Given the description of an element on the screen output the (x, y) to click on. 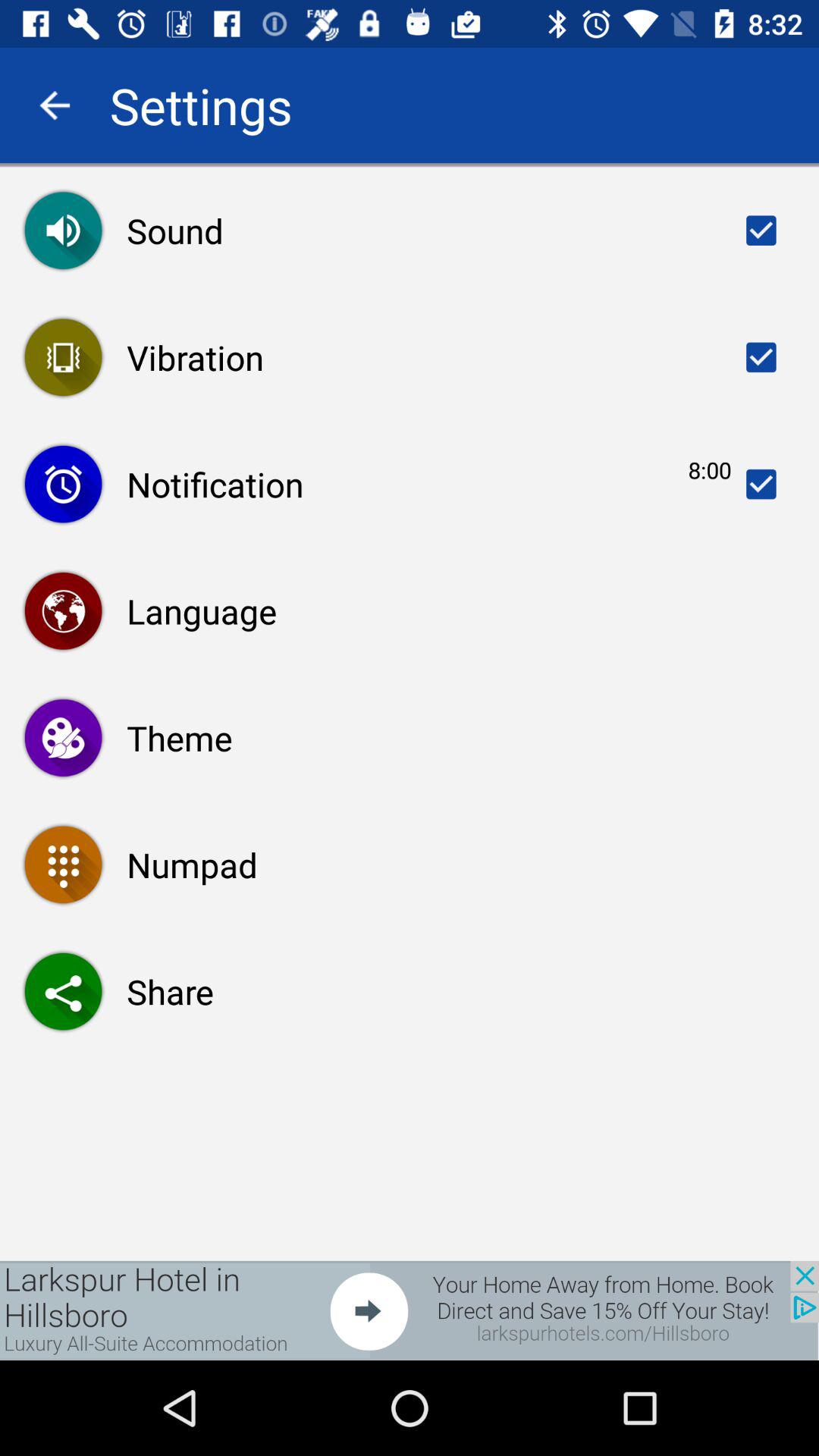
toggle vibration (761, 357)
